Given the description of an element on the screen output the (x, y) to click on. 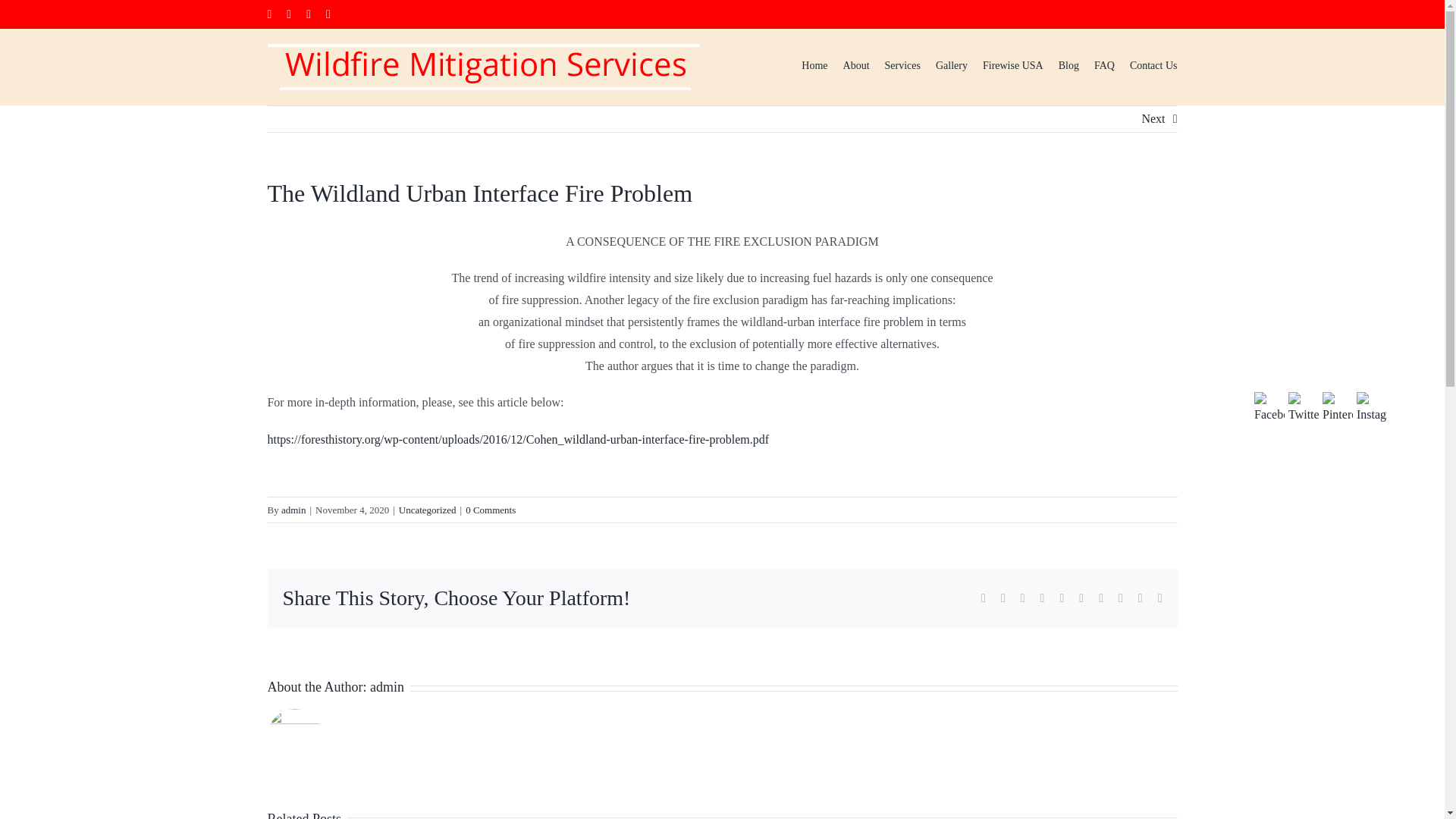
Posts by admin (386, 686)
admin (293, 509)
admin (386, 686)
Posts by admin (293, 509)
Uncategorized (427, 509)
0 Comments (490, 509)
Next (1152, 118)
